Given the description of an element on the screen output the (x, y) to click on. 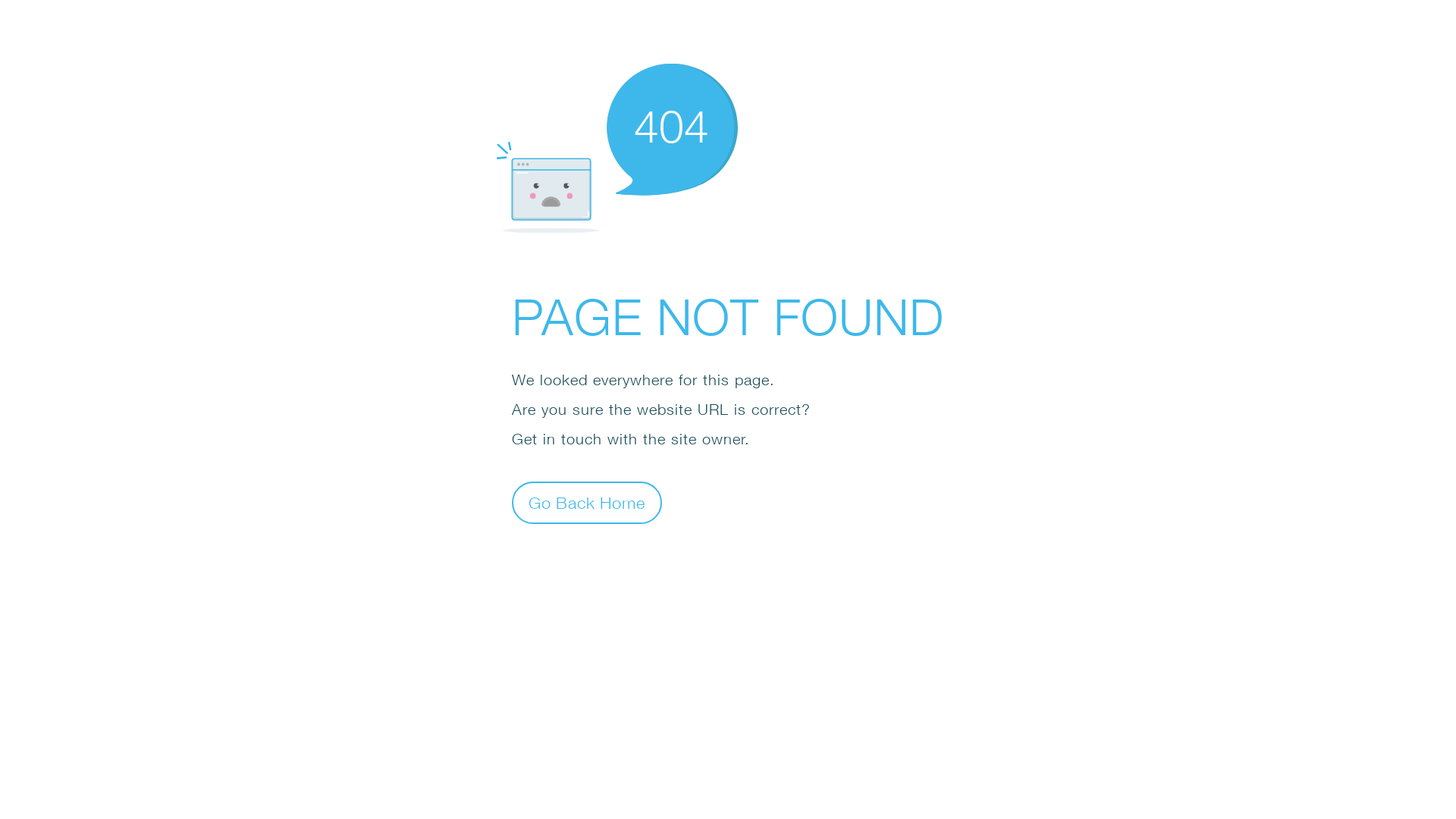
Go Back Home Element type: text (586, 502)
